Given the description of an element on the screen output the (x, y) to click on. 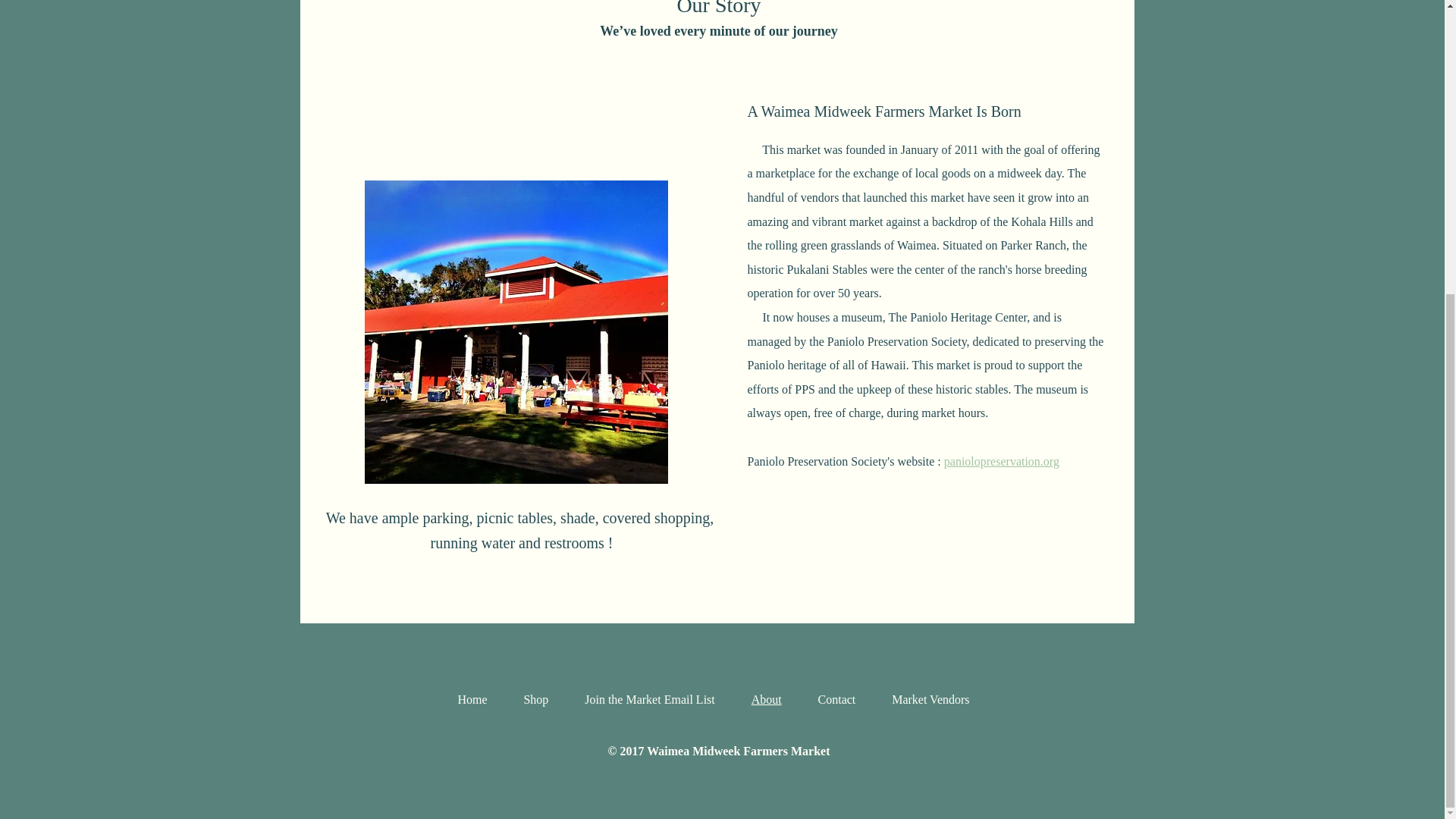
Market Vendors (930, 699)
Home (472, 699)
Contact (837, 699)
paniolopreservation.org (1001, 461)
About (766, 699)
Shop (535, 699)
Join the Market Email List (649, 699)
